Given the description of an element on the screen output the (x, y) to click on. 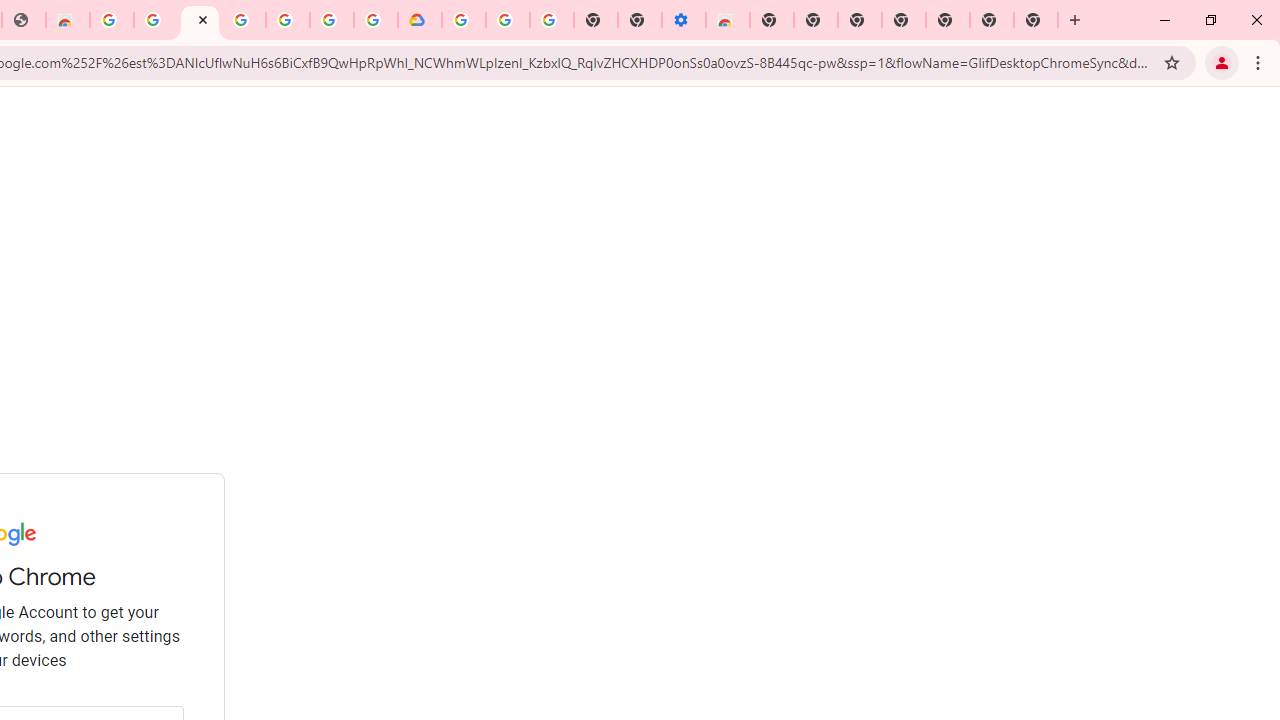
Sign in - Google Accounts (463, 20)
Chrome Web Store - Household (67, 20)
Settings - Accessibility (683, 20)
Ad Settings (155, 20)
Google Account Help (507, 20)
Sign in - Google Accounts (331, 20)
Chrome Web Store - Accessibility extensions (728, 20)
Sign in - Google Accounts (199, 20)
